Given the description of an element on the screen output the (x, y) to click on. 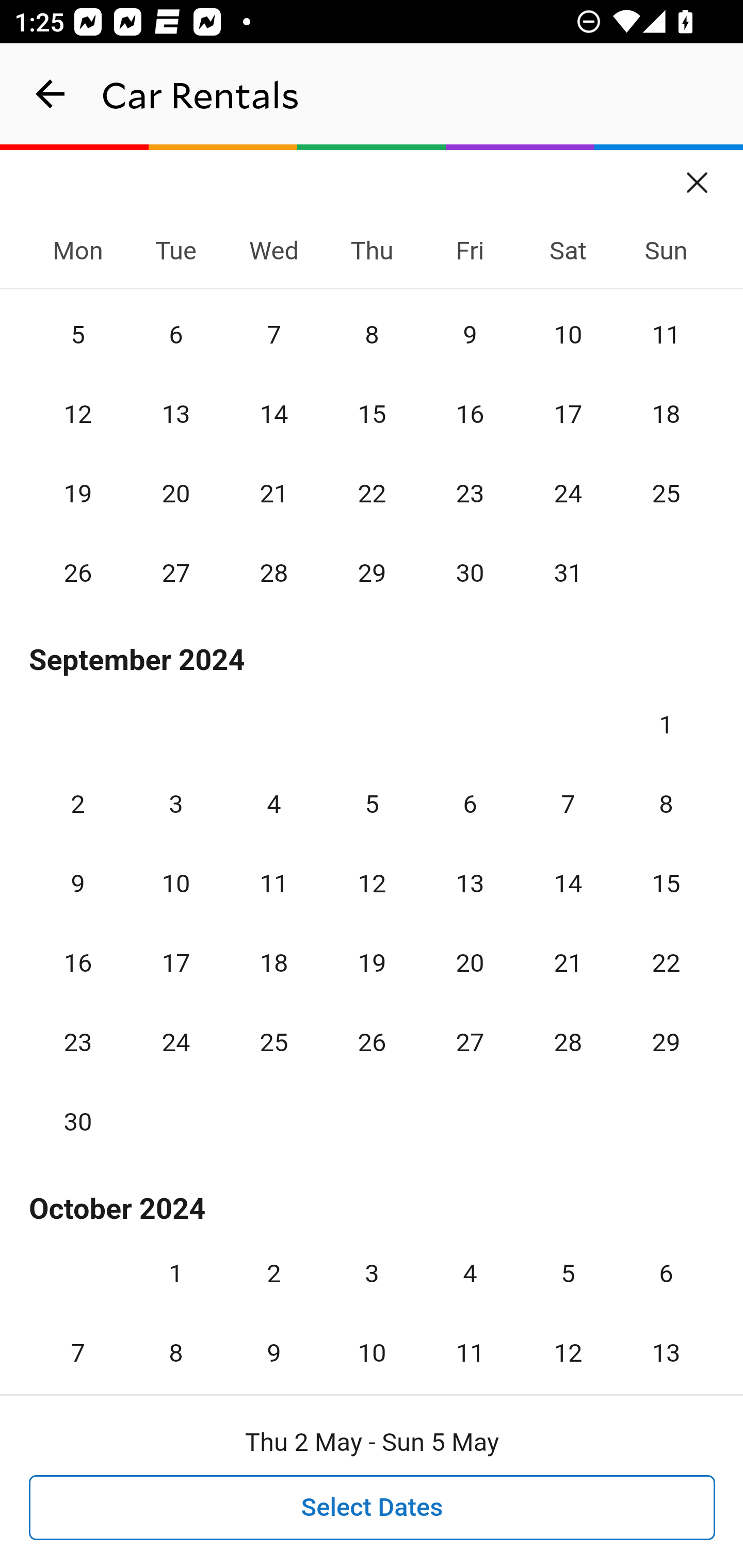
navigation_button (50, 93)
Close (697, 176)
5 August 2024 (77, 334)
6 August 2024 (175, 334)
7 August 2024 (273, 334)
8 August 2024 (371, 334)
9 August 2024 (470, 334)
10 August 2024 (567, 334)
11 August 2024 (665, 334)
12 August 2024 (77, 414)
13 August 2024 (175, 414)
14 August 2024 (273, 414)
15 August 2024 (371, 414)
16 August 2024 (470, 414)
17 August 2024 (567, 414)
18 August 2024 (665, 414)
19 August 2024 (77, 492)
20 August 2024 (175, 492)
21 August 2024 (273, 492)
22 August 2024 (371, 492)
23 August 2024 (470, 492)
24 August 2024 (567, 492)
25 August 2024 (665, 492)
26 August 2024 (77, 572)
27 August 2024 (175, 572)
28 August 2024 (273, 572)
29 August 2024 (371, 572)
30 August 2024 (470, 572)
31 August 2024 (567, 572)
1 September 2024 (665, 725)
2 September 2024 (77, 804)
3 September 2024 (175, 804)
4 September 2024 (273, 804)
5 September 2024 (371, 804)
6 September 2024 (470, 804)
7 September 2024 (567, 804)
8 September 2024 (665, 804)
9 September 2024 (77, 883)
10 September 2024 (175, 883)
11 September 2024 (273, 883)
12 September 2024 (371, 883)
13 September 2024 (470, 883)
14 September 2024 (567, 883)
15 September 2024 (665, 883)
16 September 2024 (77, 963)
17 September 2024 (175, 963)
18 September 2024 (273, 963)
19 September 2024 (371, 963)
20 September 2024 (470, 963)
21 September 2024 (567, 963)
22 September 2024 (665, 963)
23 September 2024 (77, 1041)
24 September 2024 (175, 1041)
25 September 2024 (273, 1041)
26 September 2024 (371, 1041)
27 September 2024 (470, 1041)
28 September 2024 (567, 1041)
29 September 2024 (665, 1041)
30 September 2024 (77, 1121)
1 October 2024 (175, 1273)
2 October 2024 (273, 1273)
3 October 2024 (371, 1273)
4 October 2024 (470, 1273)
5 October 2024 (567, 1273)
6 October 2024 (665, 1273)
7 October 2024 (77, 1341)
8 October 2024 (175, 1341)
9 October 2024 (273, 1341)
10 October 2024 (371, 1341)
11 October 2024 (470, 1341)
12 October 2024 (567, 1341)
13 October 2024 (665, 1341)
Select Dates (372, 1508)
